Given the description of an element on the screen output the (x, y) to click on. 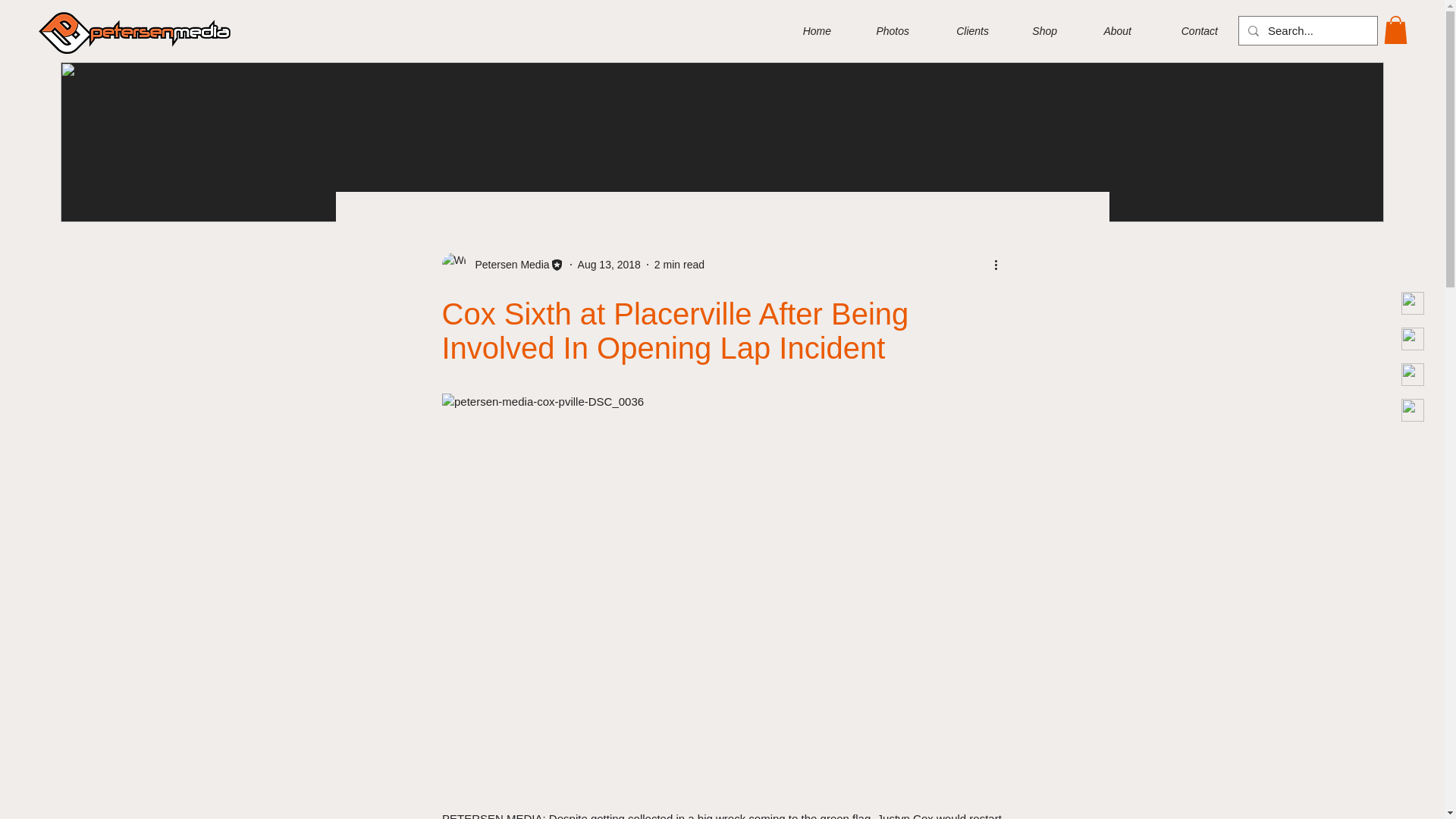
Petersen Media (502, 264)
2 min read (678, 263)
Petersen Media (506, 263)
Home (805, 30)
Aug 13, 2018 (609, 263)
Contact (1185, 30)
Clients (960, 30)
About (1105, 30)
Photos (881, 30)
Shop (1034, 30)
